Given the description of an element on the screen output the (x, y) to click on. 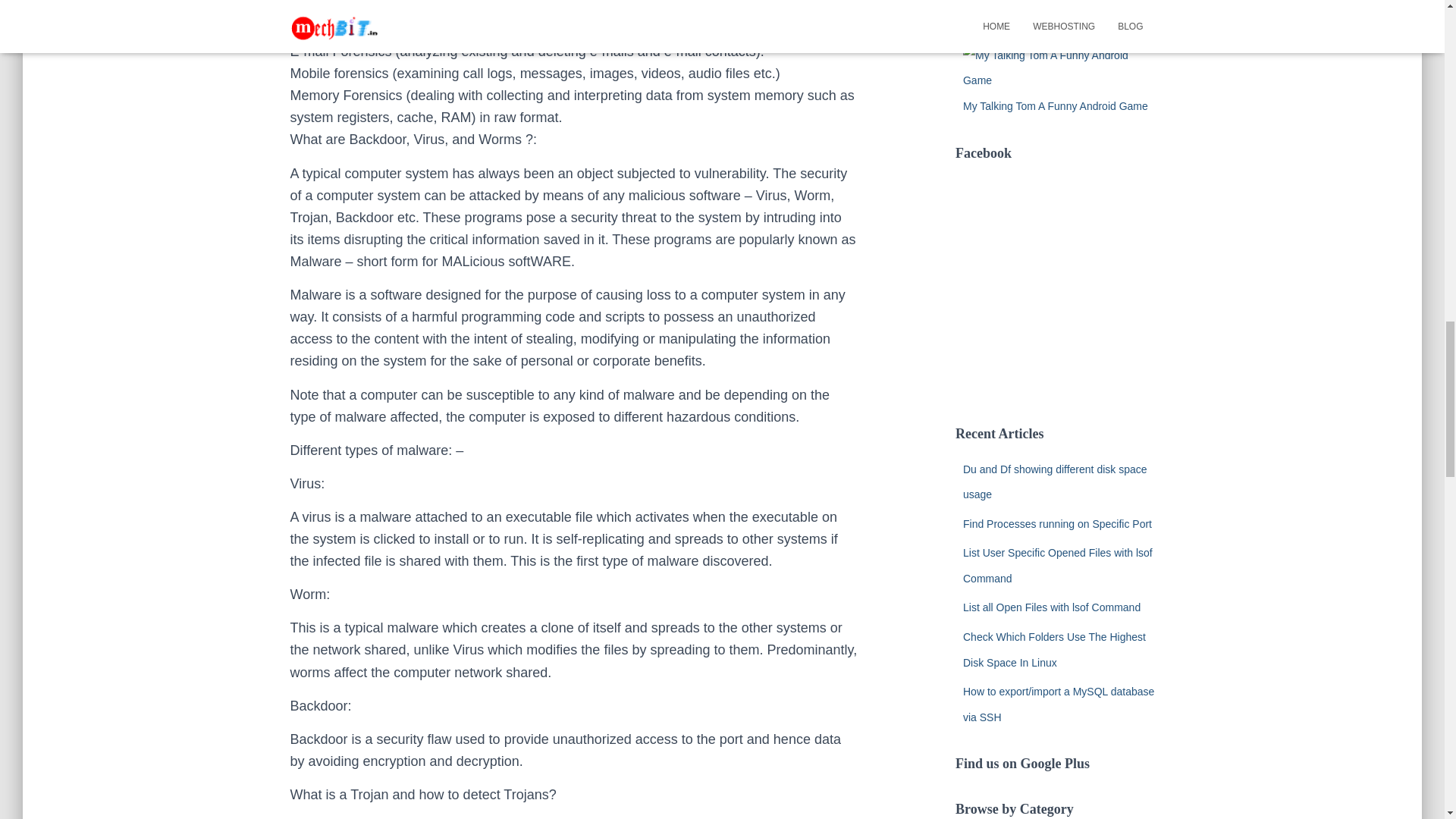
Find Processes running on Specific Port (1056, 523)
Check Which Folders Use The Highest Disk Space In Linux (1053, 649)
My Talking Tom A Funny Android Game (1055, 105)
List User Specific Opened Files with lsof Command (1057, 565)
List all Open Files with lsof Command (1051, 607)
Du and Df showing different disk space usage (1054, 481)
